Given the description of an element on the screen output the (x, y) to click on. 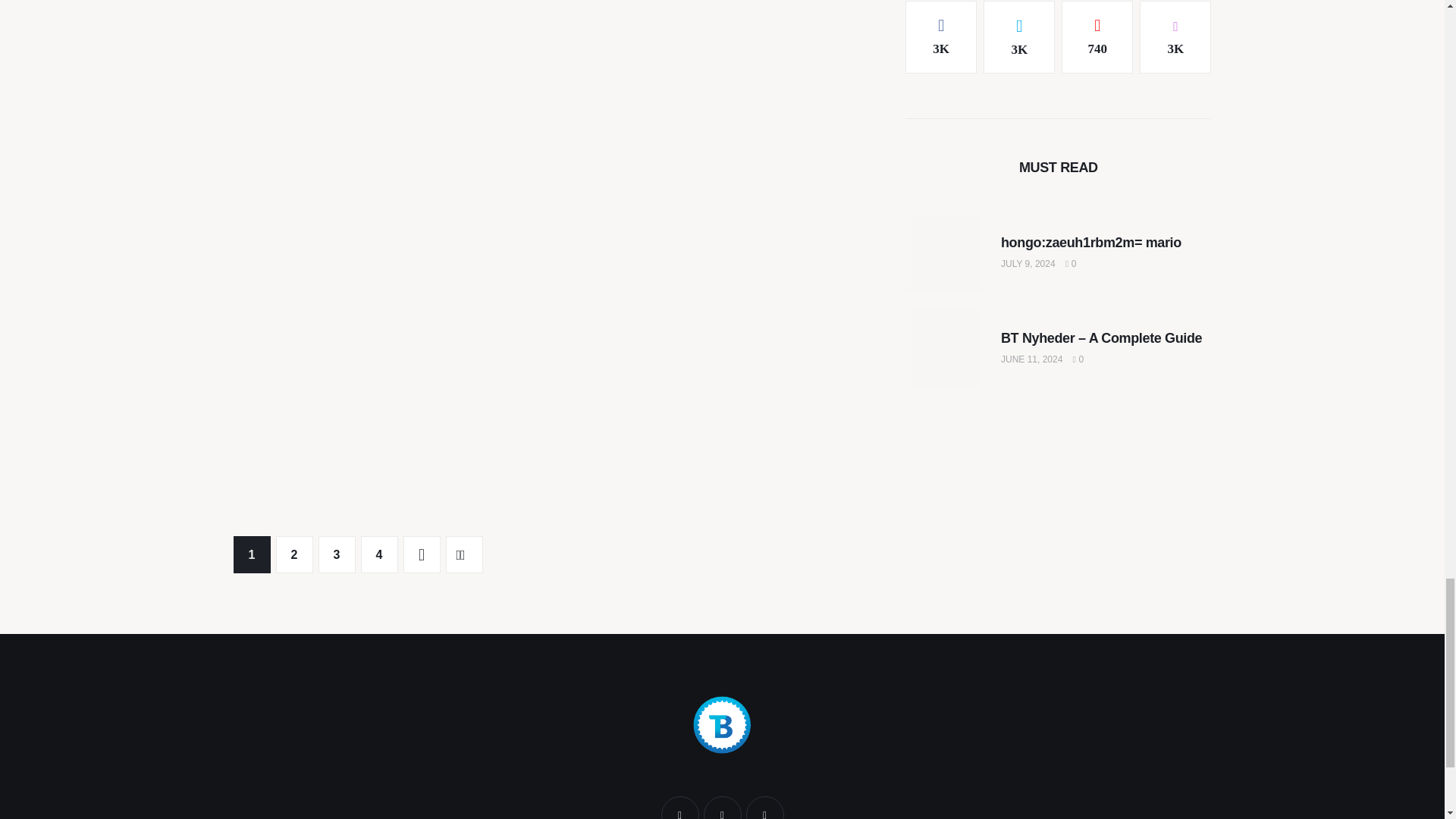
Next page (422, 554)
Last page (464, 554)
